Given the description of an element on the screen output the (x, y) to click on. 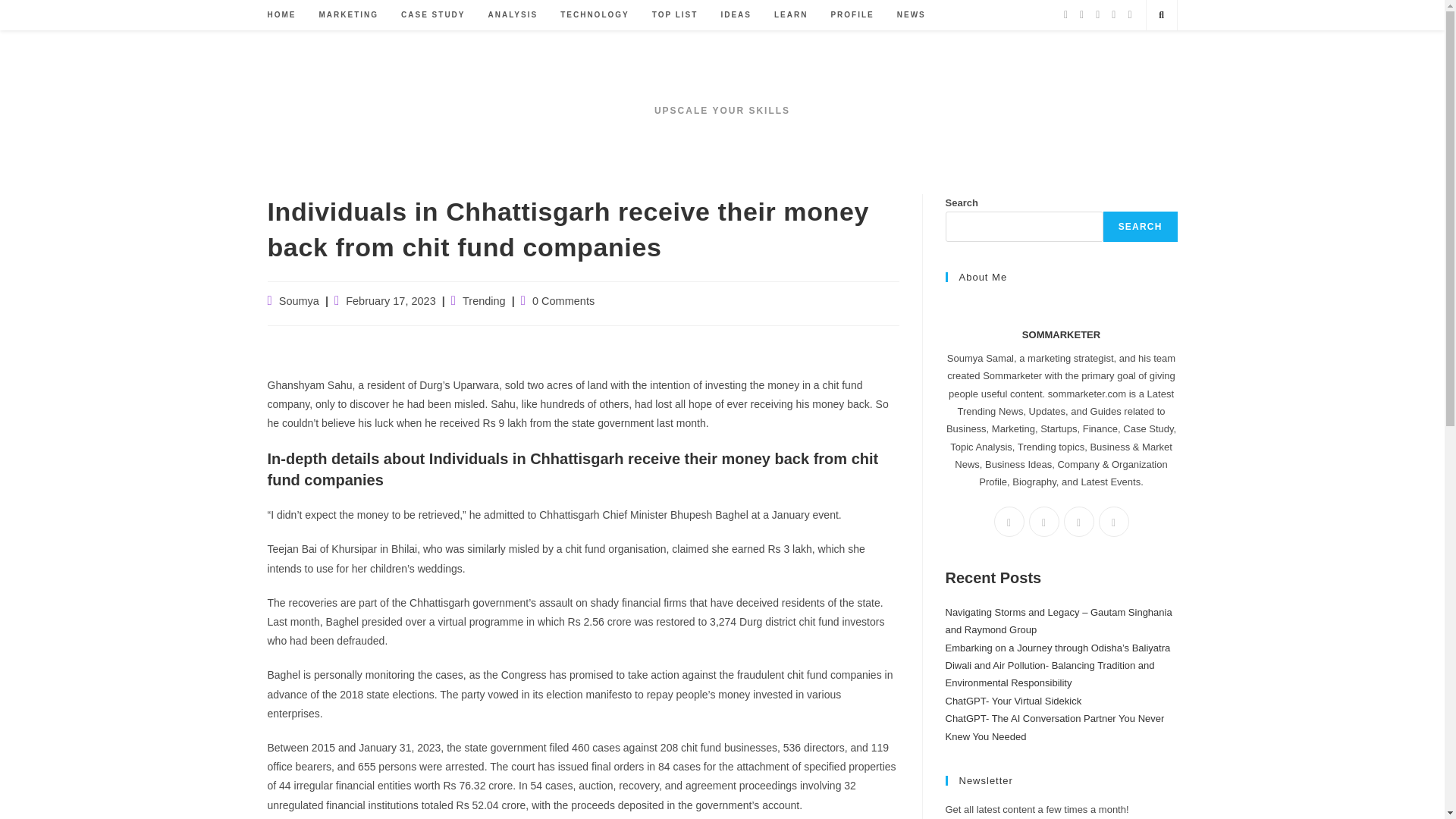
TOP LIST (675, 15)
CASE STUDY (433, 15)
IDEAS (735, 15)
NEWS (911, 15)
HOME (281, 15)
MARKETING (348, 15)
Posts by Soumya (298, 300)
TECHNOLOGY (594, 15)
PROFILE (851, 15)
LEARN (790, 15)
ANALYSIS (513, 15)
